Given the description of an element on the screen output the (x, y) to click on. 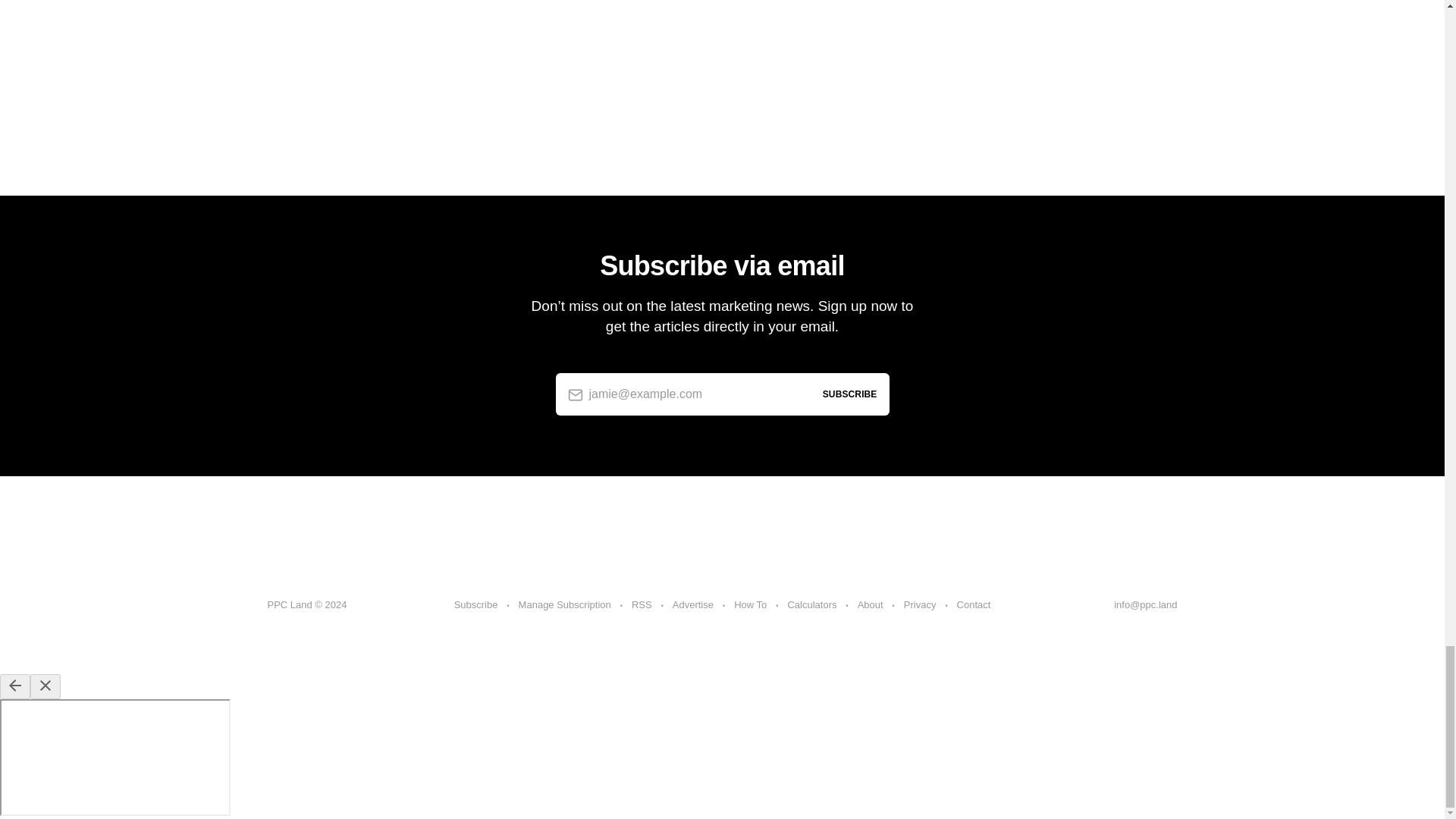
Advertisement (721, 48)
